Given the description of an element on the screen output the (x, y) to click on. 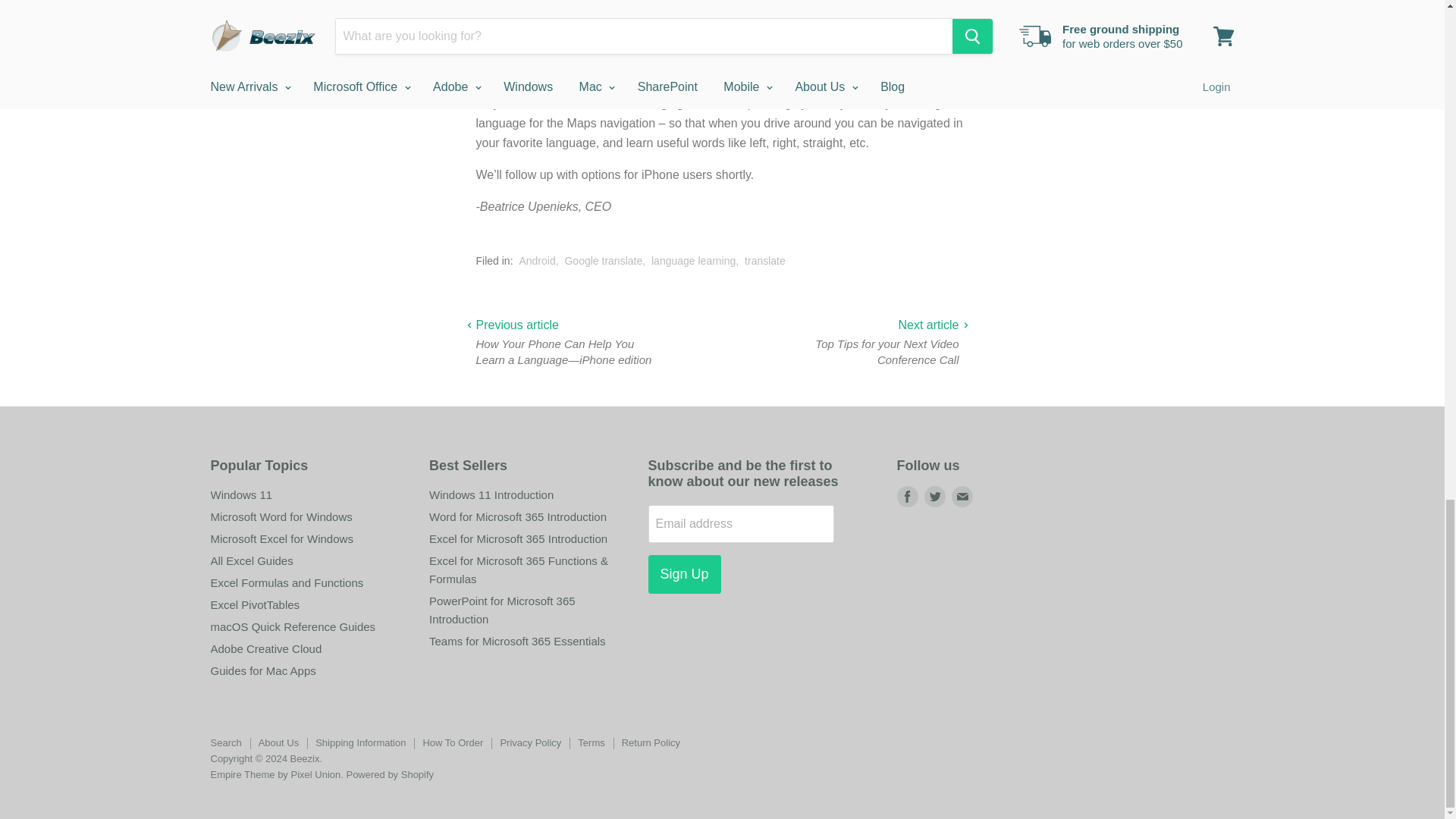
Show articles tagged Android (536, 260)
Show articles tagged translate (765, 260)
Show articles tagged Google translate (603, 260)
Twitter (933, 496)
E-mail (961, 496)
Show articles tagged language learning (692, 260)
Facebook (906, 496)
